Given the description of an element on the screen output the (x, y) to click on. 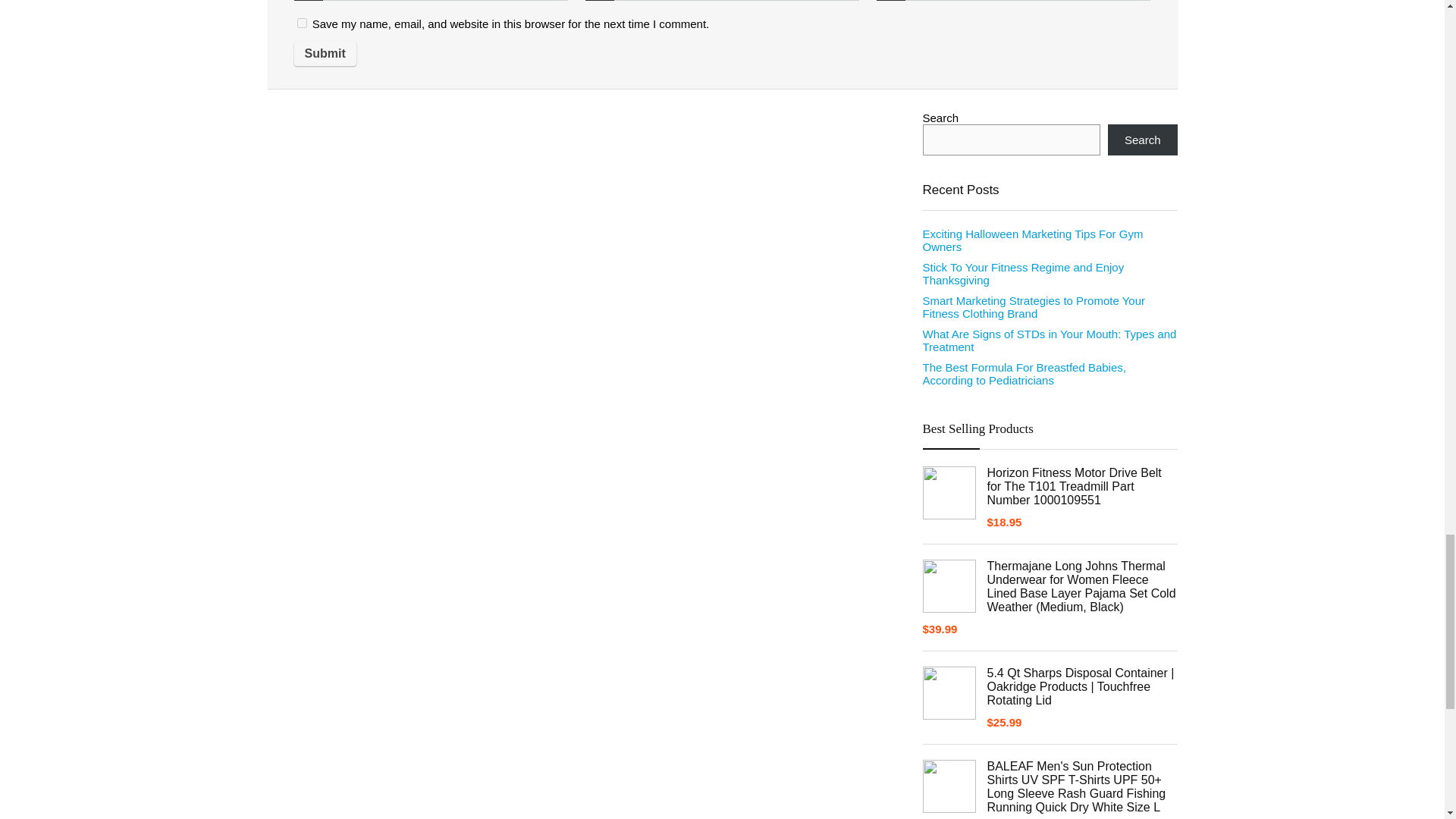
yes (302, 22)
Submit (325, 53)
